Given the description of an element on the screen output the (x, y) to click on. 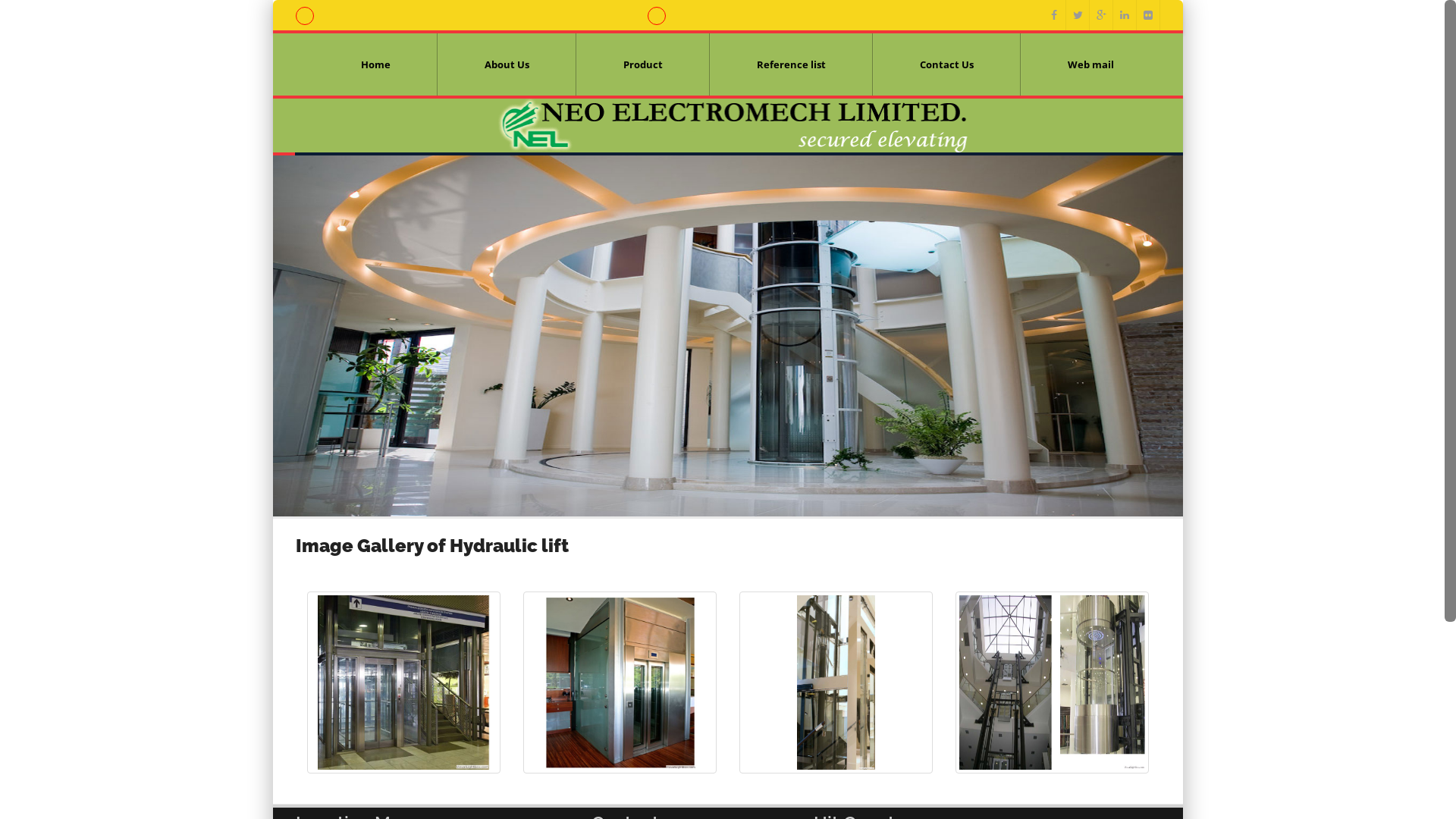
Lift Element type: hover (835, 682)
Lift Element type: hover (1051, 682)
Home Element type: text (375, 64)
Reference list Element type: text (790, 64)
Lift Element type: hover (619, 682)
Contact Us Element type: text (946, 64)
Product Element type: text (642, 64)
Web mail Element type: text (1090, 64)
About Us Element type: text (506, 64)
Lift Element type: hover (403, 682)
